Given the description of an element on the screen output the (x, y) to click on. 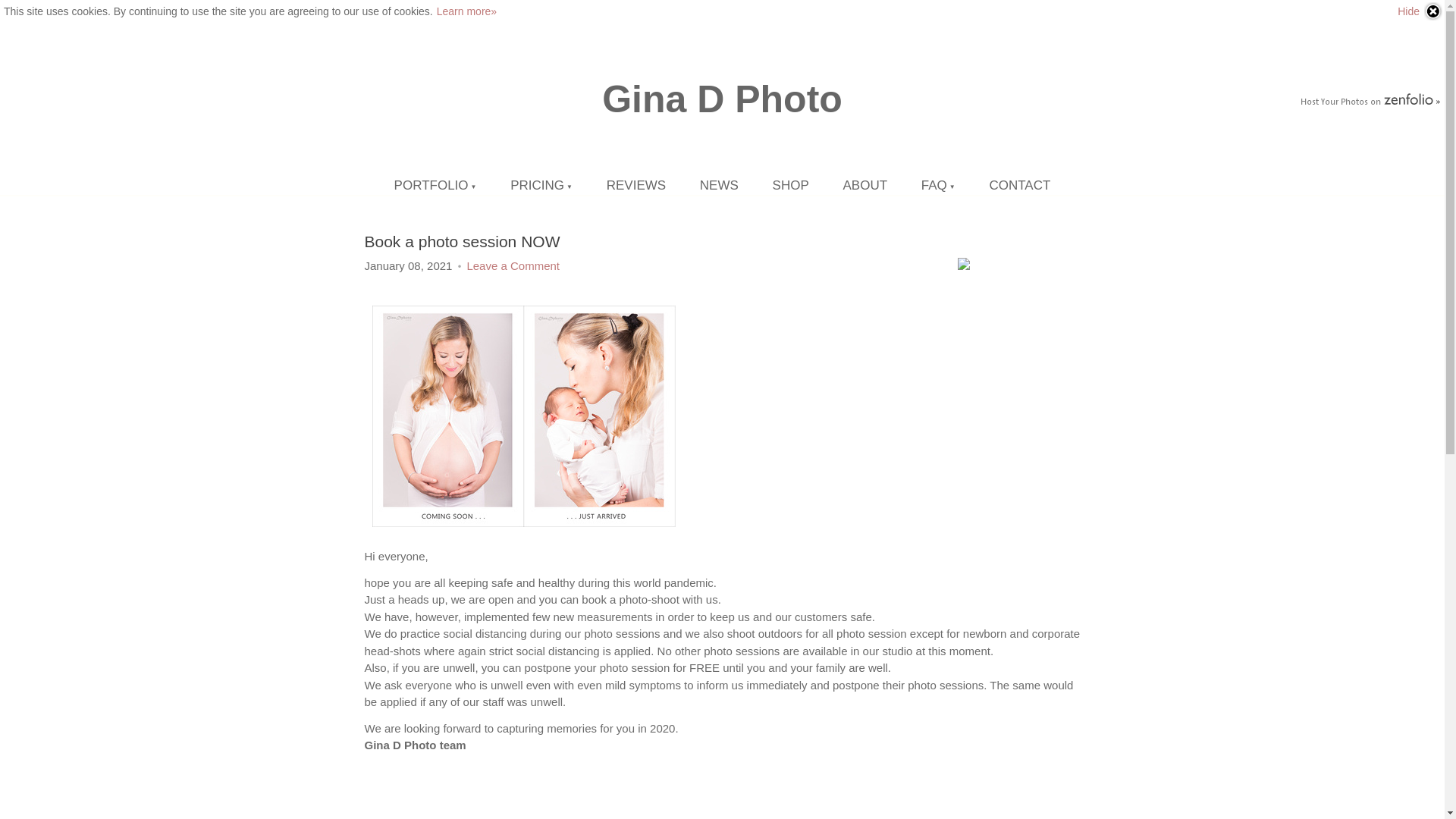
ABOUT (865, 185)
Gina D Photo (722, 98)
CONTACT (1019, 185)
Leave a Comment (512, 265)
Gina D Photo (722, 98)
REVIEWS (636, 185)
Hide (1419, 11)
NEWS (719, 185)
SHOP (790, 185)
